Given the description of an element on the screen output the (x, y) to click on. 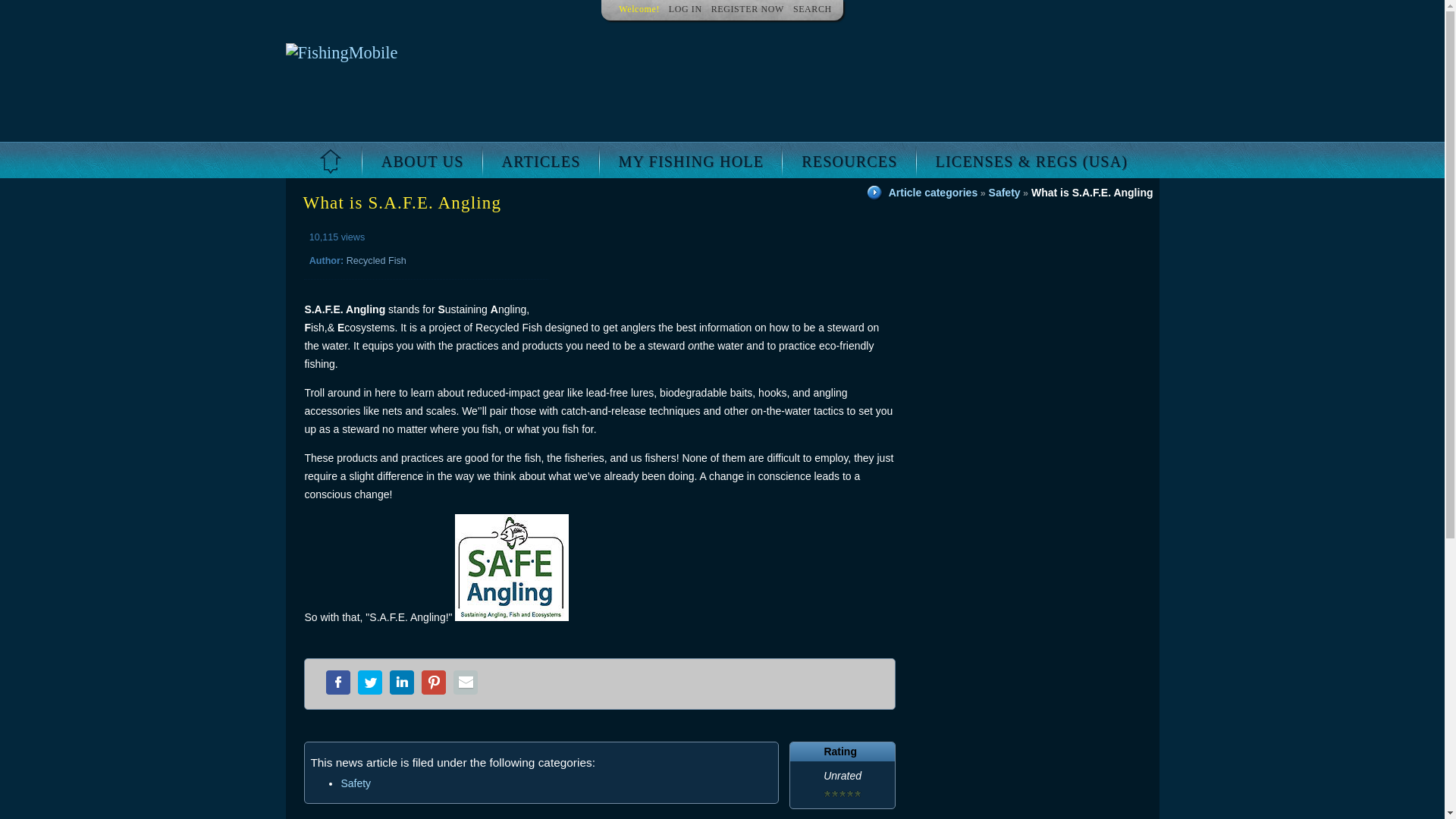
LOG IN (684, 9)
ARTICLES (541, 161)
REGISTER NOW (747, 9)
RESOURCES (848, 161)
ABOUT US (422, 161)
SEARCH (812, 9)
MY FISHING HOLE (691, 161)
